Given the description of an element on the screen output the (x, y) to click on. 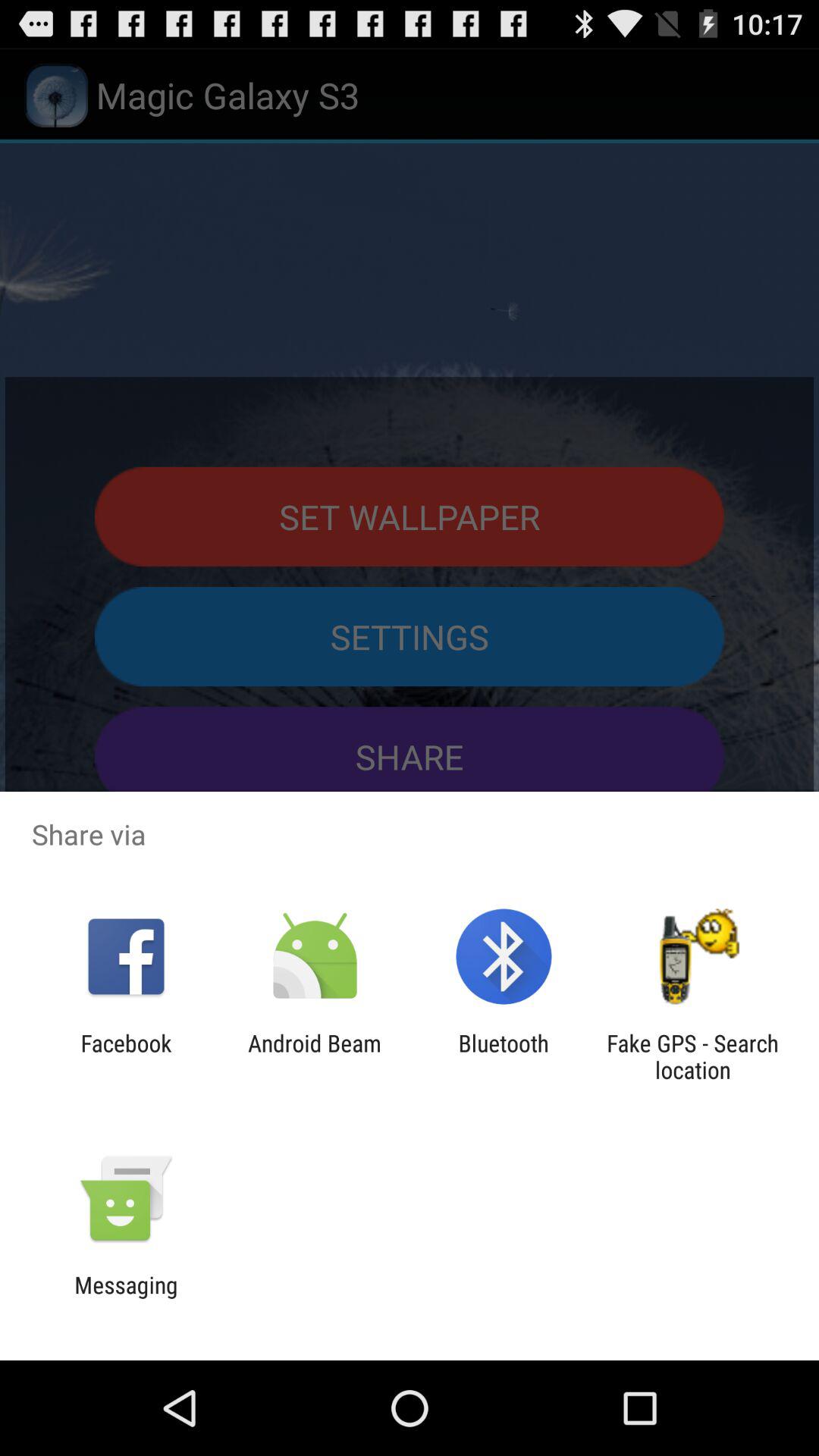
open the icon to the left of bluetooth (314, 1056)
